Given the description of an element on the screen output the (x, y) to click on. 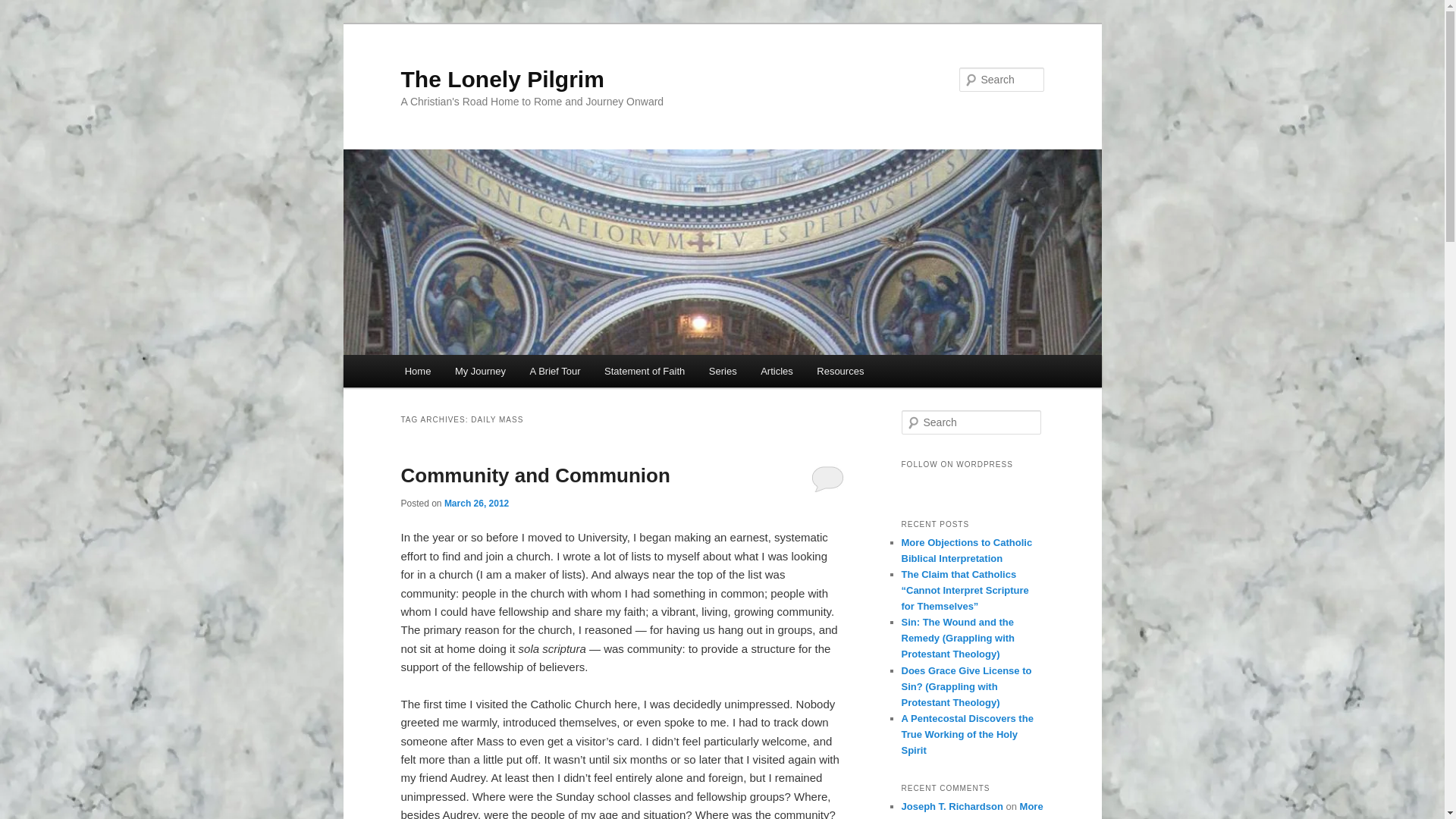
Resources (840, 370)
Follow Button (972, 482)
12:00 pm (476, 502)
More Objections to Catholic Biblical Interpretation (966, 550)
Home (417, 370)
My Journey (480, 370)
Statement of Faith (644, 370)
March 26, 2012 (476, 502)
Search (21, 11)
